Given the description of an element on the screen output the (x, y) to click on. 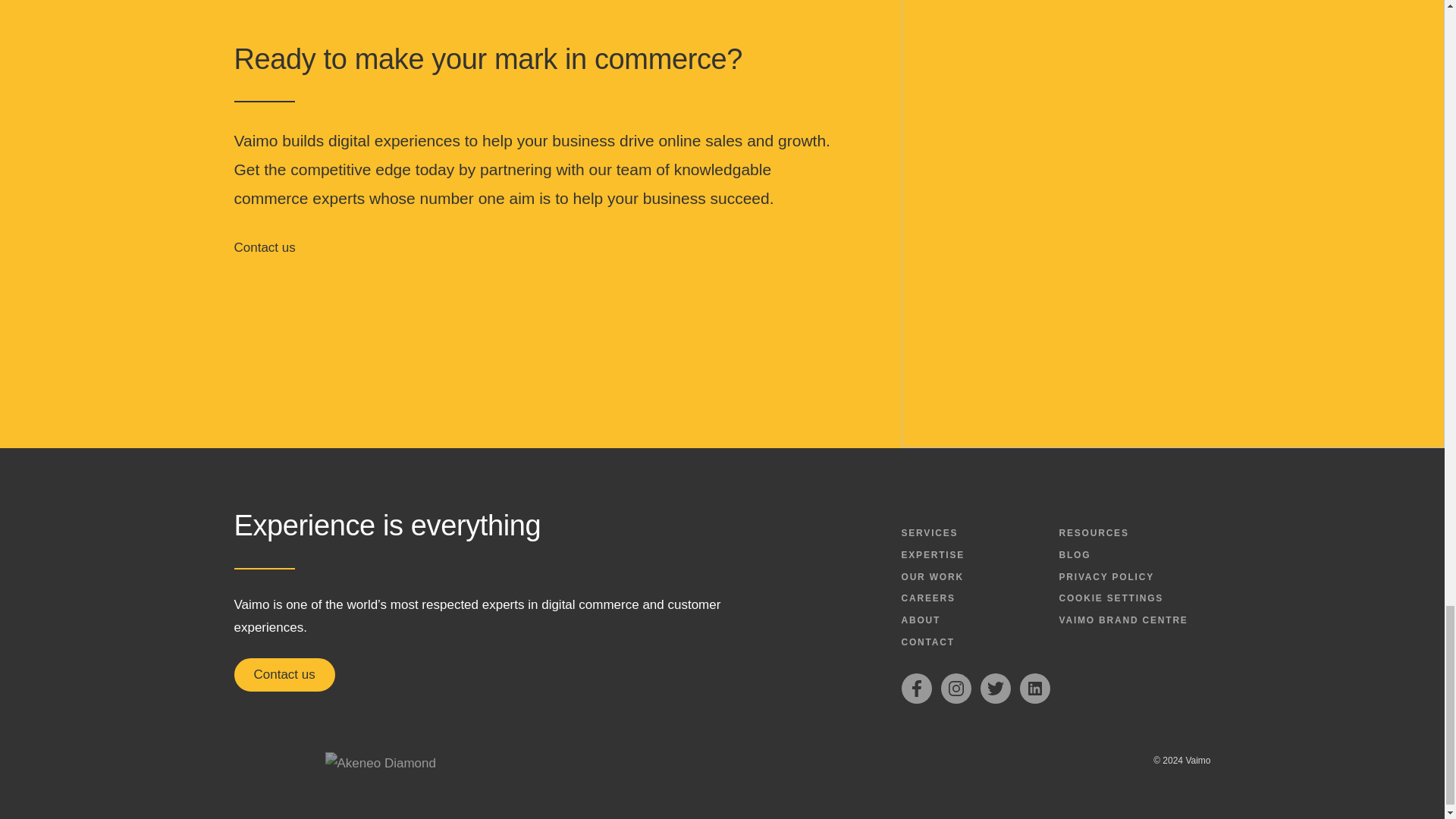
Twitter (994, 688)
Instagram (955, 688)
Facebook (916, 688)
LinkedIn (1034, 688)
